Given the description of an element on the screen output the (x, y) to click on. 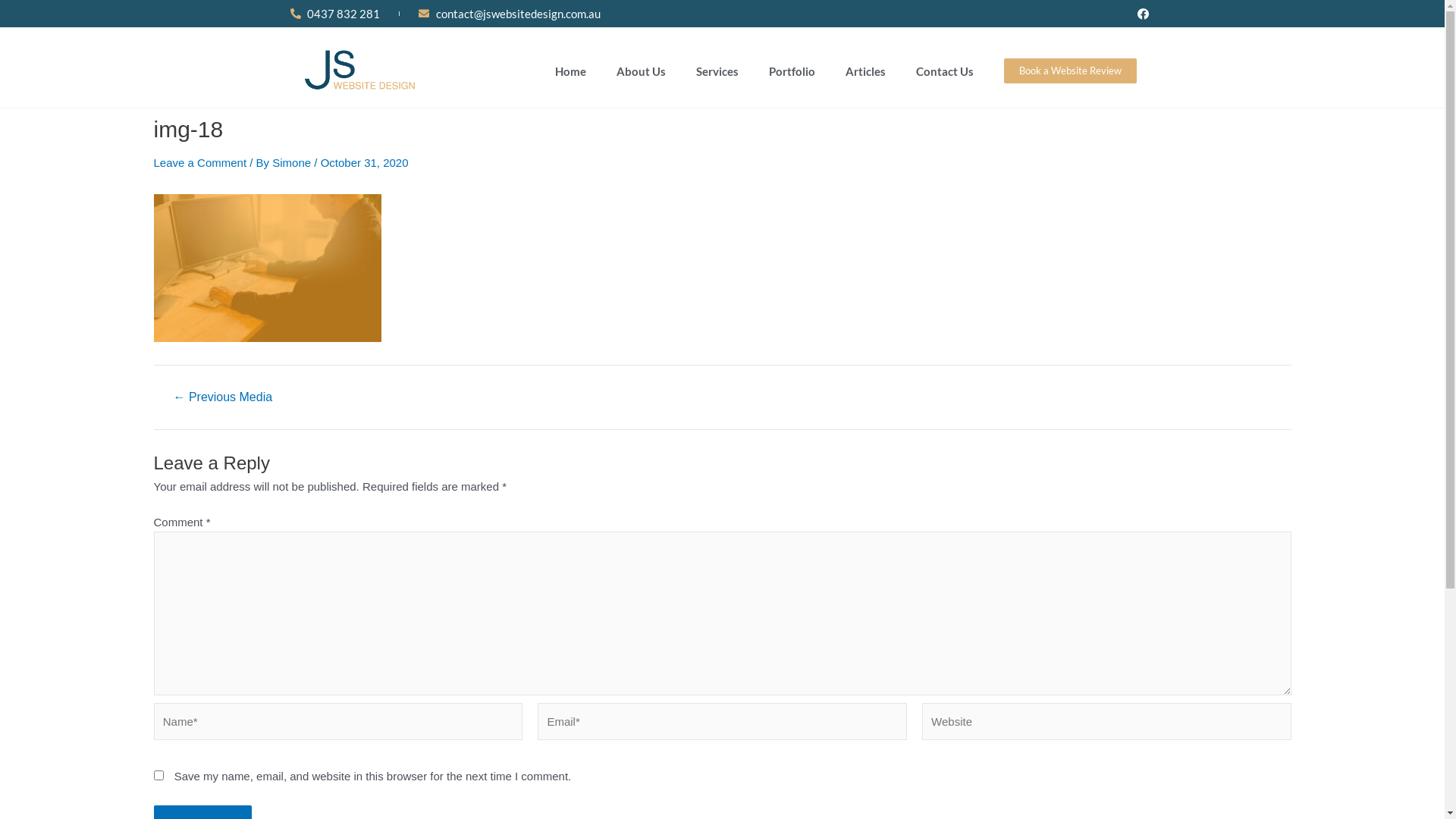
About Us Element type: text (640, 70)
Home Element type: text (570, 70)
Contact Us Element type: text (944, 70)
Simone Element type: text (292, 162)
Articles Element type: text (865, 70)
Leave a Comment Element type: text (199, 162)
Portfolio Element type: text (791, 70)
0437 832 281 Element type: text (334, 13)
Services Element type: text (716, 70)
Facebook Element type: text (1142, 13)
Book a Website Review Element type: text (1070, 70)
